Given the description of an element on the screen output the (x, y) to click on. 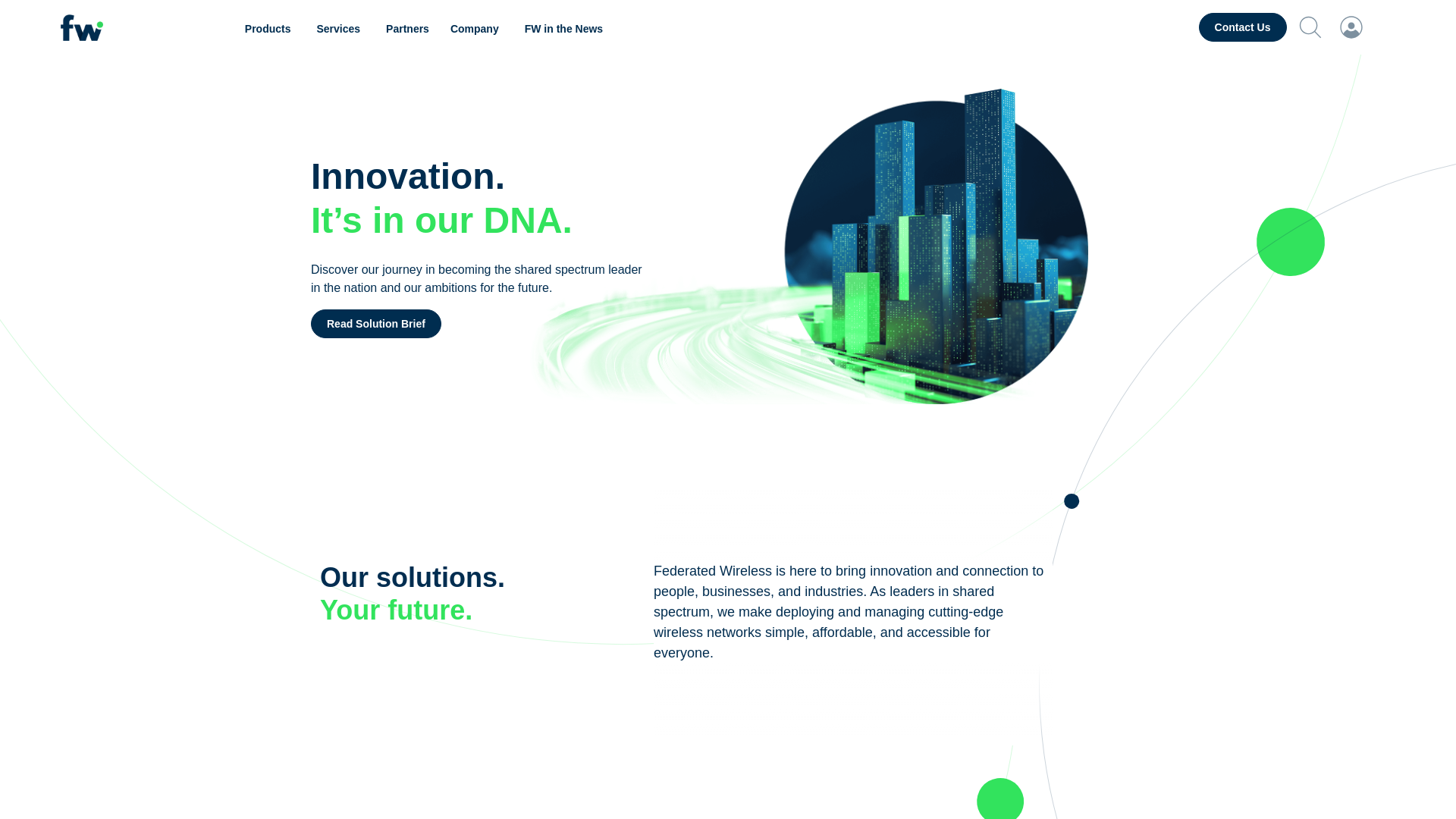
Services (340, 29)
Read Solution Brief (376, 323)
Products (269, 29)
FW in the News (563, 29)
Company (476, 29)
Partners (407, 29)
Contact Us (1242, 27)
